Given the description of an element on the screen output the (x, y) to click on. 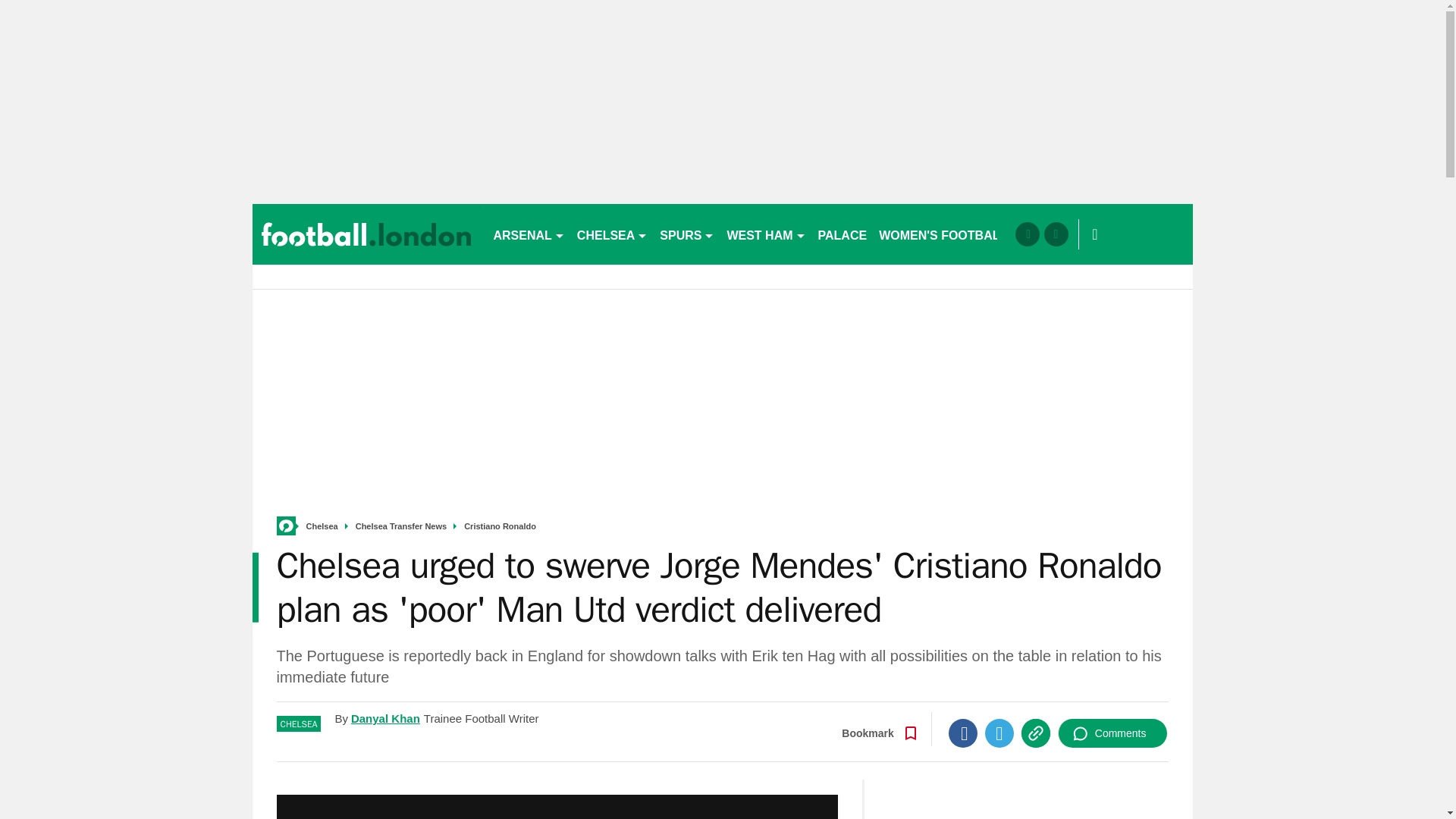
ARSENAL (528, 233)
PALACE (842, 233)
CHELSEA (611, 233)
facebook (1026, 233)
Facebook (962, 733)
SPURS (686, 233)
footballlondon (365, 233)
twitter (1055, 233)
Twitter (999, 733)
WOMEN'S FOOTBALL (942, 233)
WEST HAM (765, 233)
Comments (1112, 733)
